Given the description of an element on the screen output the (x, y) to click on. 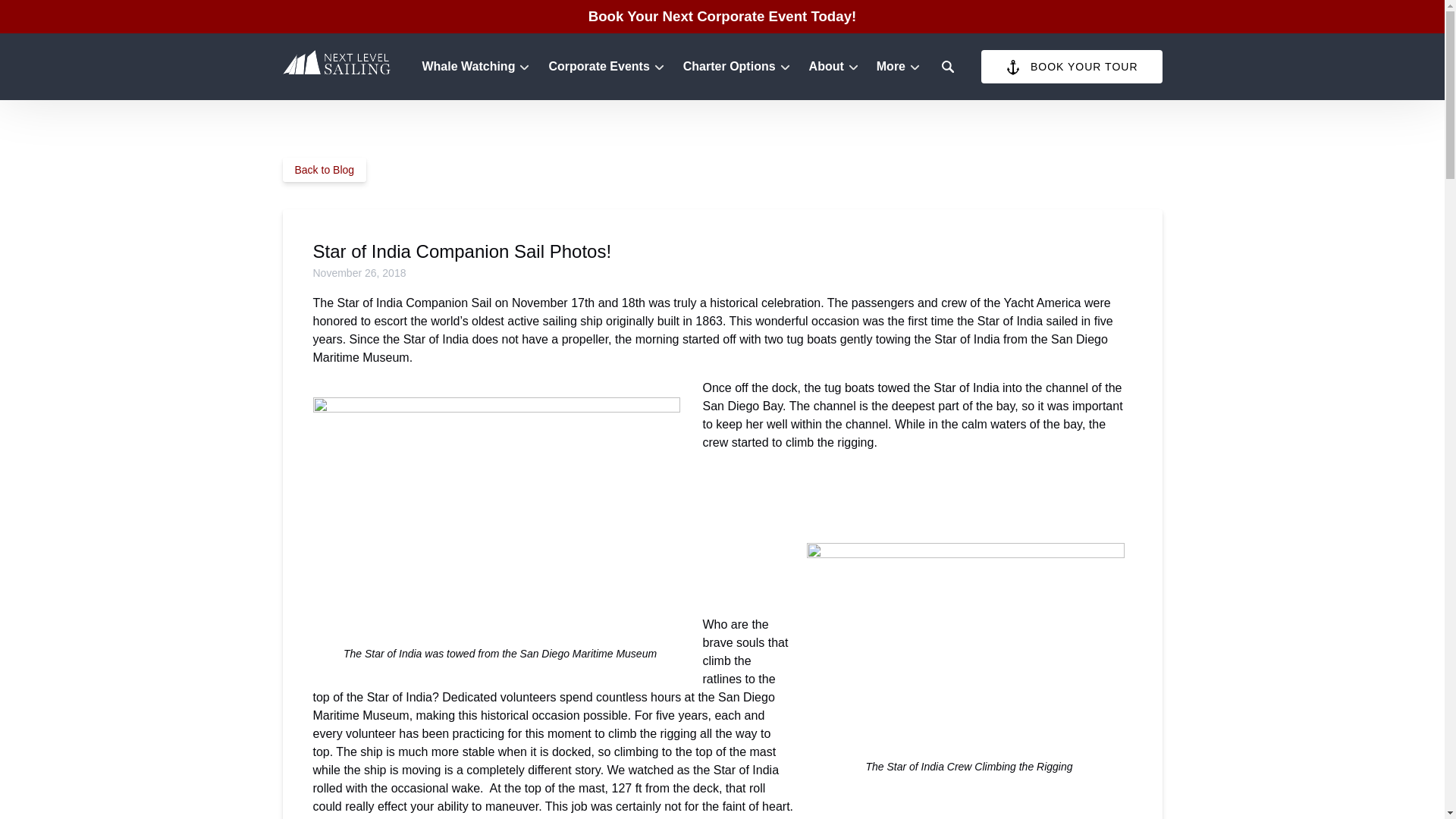
Skip to primary navigation (77, 16)
Charter Options (736, 66)
Open Charter Options Menu (740, 62)
Open Corporate Events Menu (609, 62)
Skip to content (47, 16)
Corporate Events (605, 66)
Skip to footer (42, 16)
Open Whale Watching Menu (479, 62)
ANCHOR (1013, 67)
Open About Menu (837, 62)
Whale Watching (475, 66)
About (833, 66)
